Given the description of an element on the screen output the (x, y) to click on. 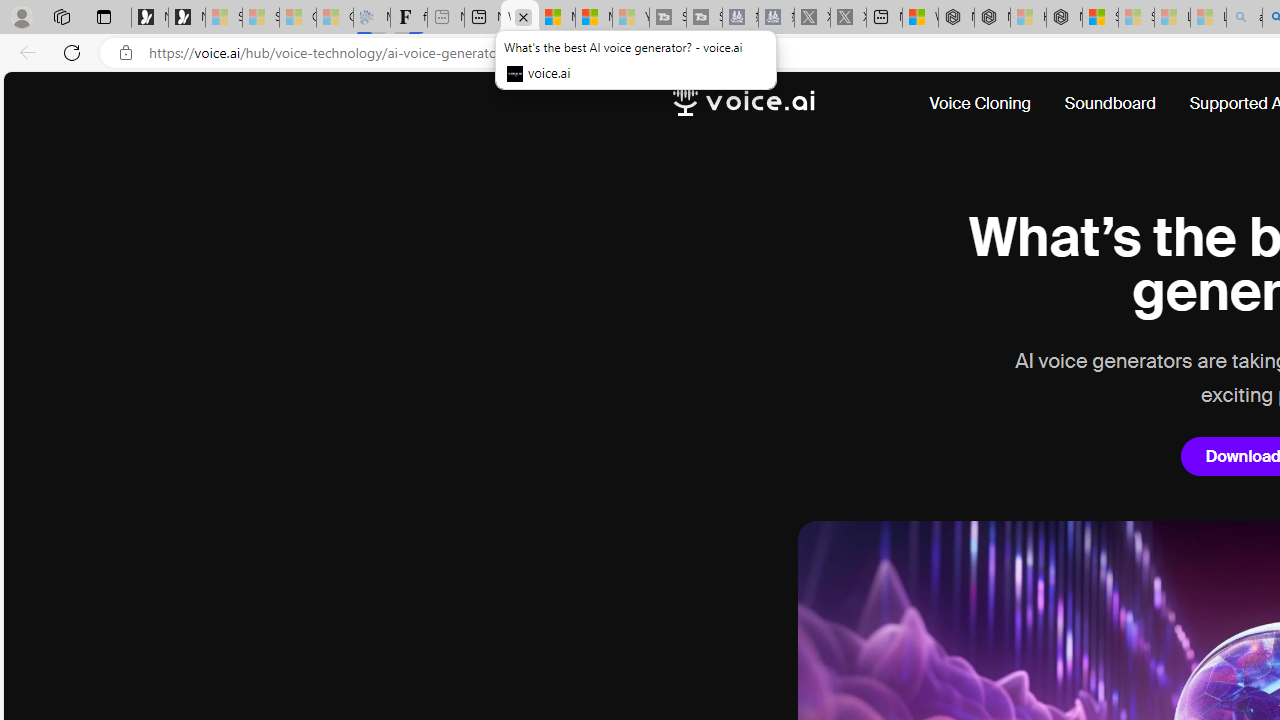
Voice Cloning (988, 103)
amazon - Search - Sleeping (1244, 17)
